Given the description of an element on the screen output the (x, y) to click on. 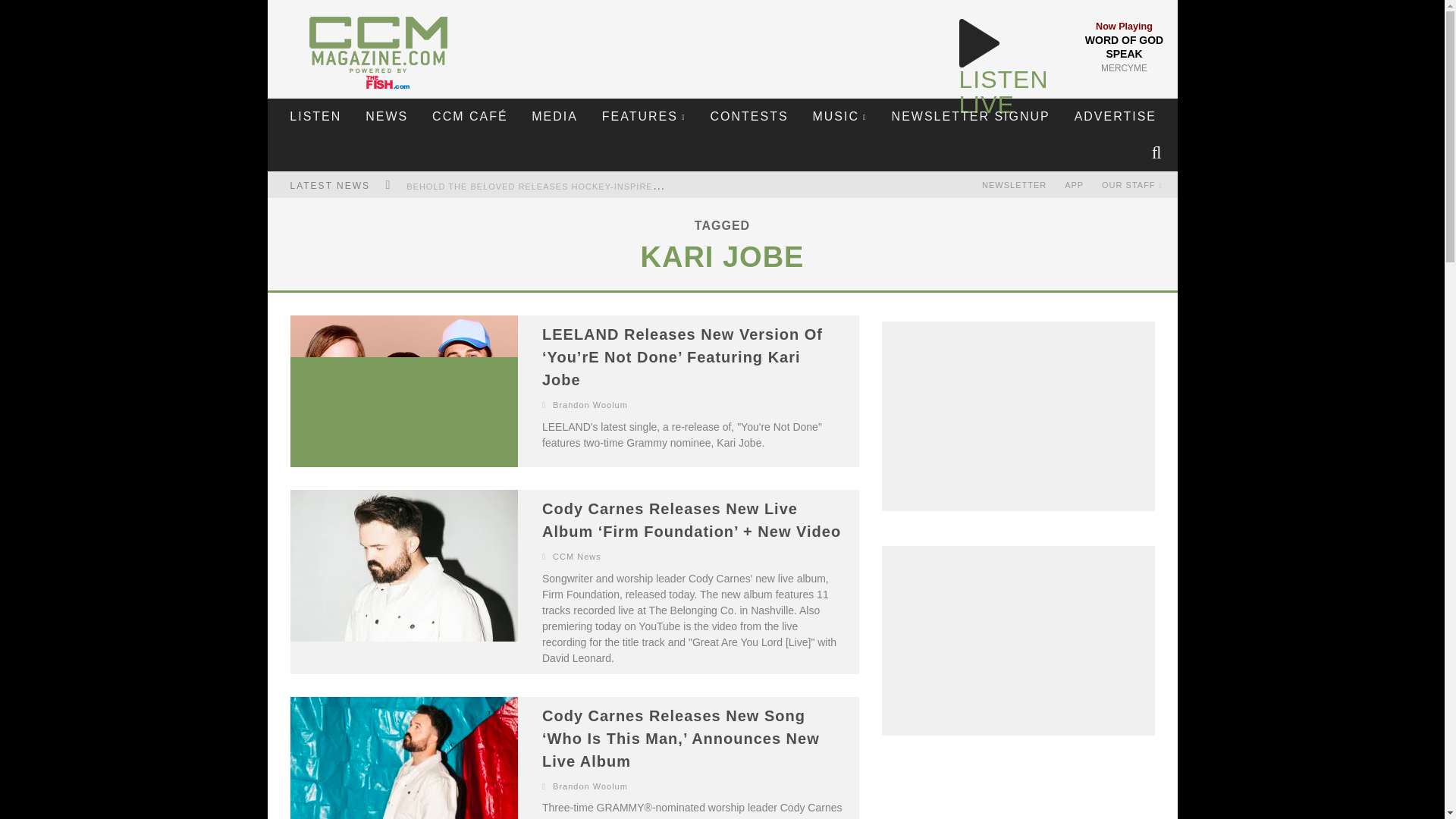
LISTEN LIVE (1003, 91)
LISTEN (315, 116)
NEWS (386, 116)
Search (1158, 153)
